Given the description of an element on the screen output the (x, y) to click on. 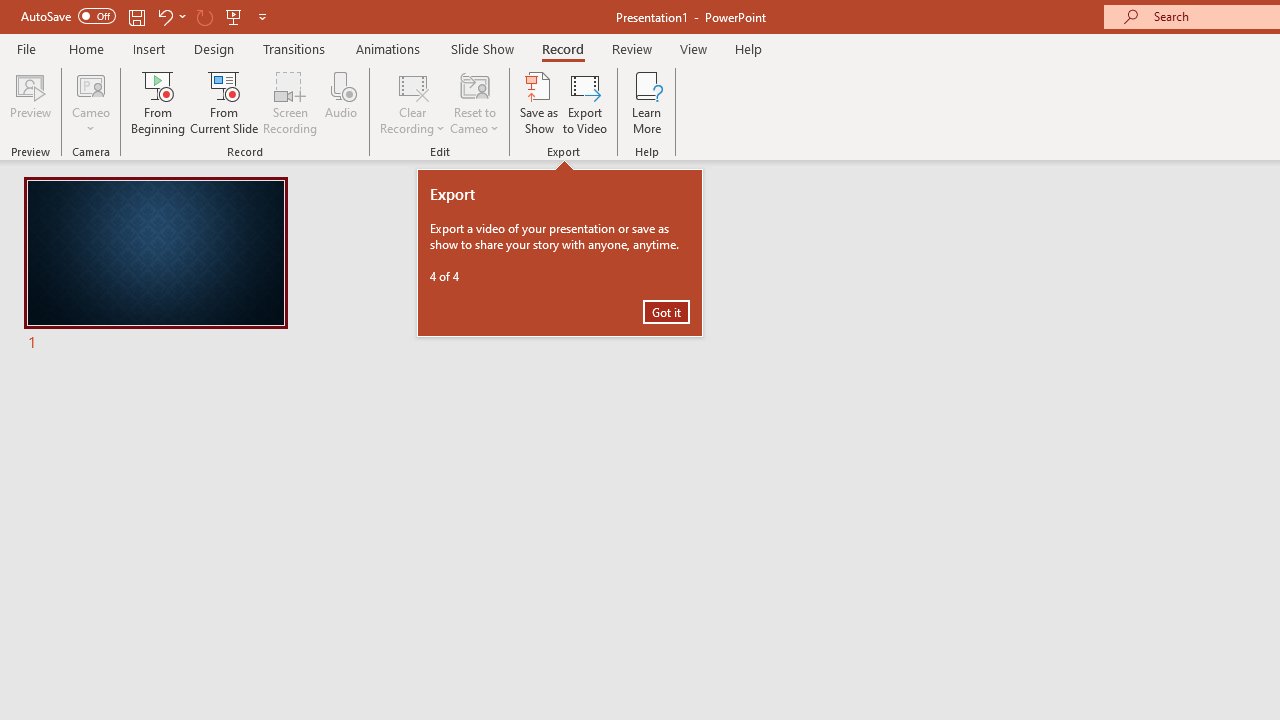
Screen Recording (290, 102)
AutoSave (68, 16)
Got it (665, 312)
Save (136, 15)
From Beginning (234, 15)
Redo (204, 15)
Reset to Cameo (474, 102)
From Current Slide... (224, 102)
Export to Video (585, 102)
System (10, 11)
Quick Access Toolbar (145, 16)
Customize Quick Access Toolbar (262, 15)
Undo (164, 15)
Clear Recording (412, 102)
